Given the description of an element on the screen output the (x, y) to click on. 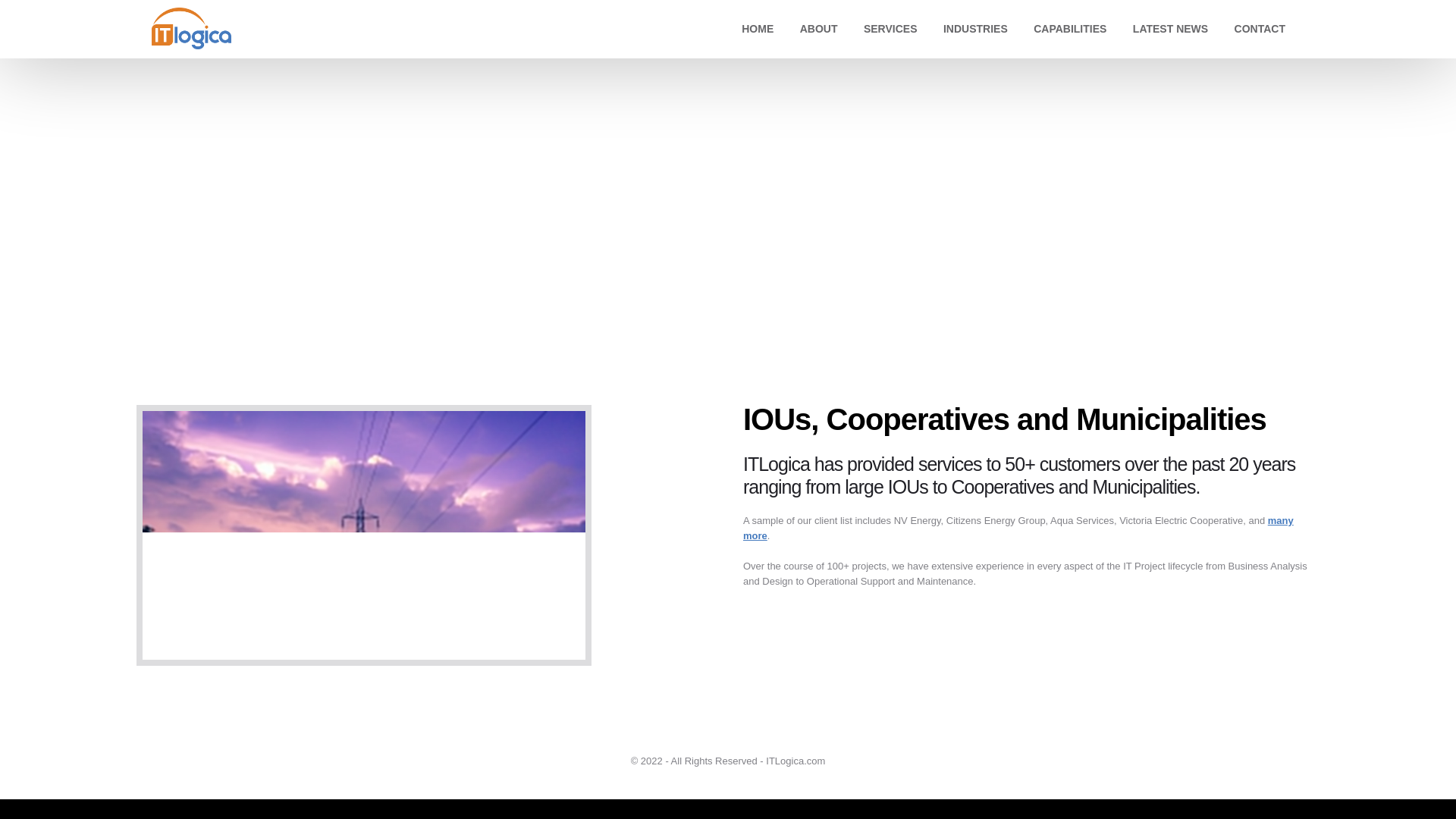
CAPABILITIES (1070, 29)
ABOUT (818, 29)
LATEST NEWS (1170, 29)
CONTACT (1260, 29)
SERVICES (889, 29)
HOME (757, 29)
many more (1018, 528)
INDUSTRIES (975, 29)
